Given the description of an element on the screen output the (x, y) to click on. 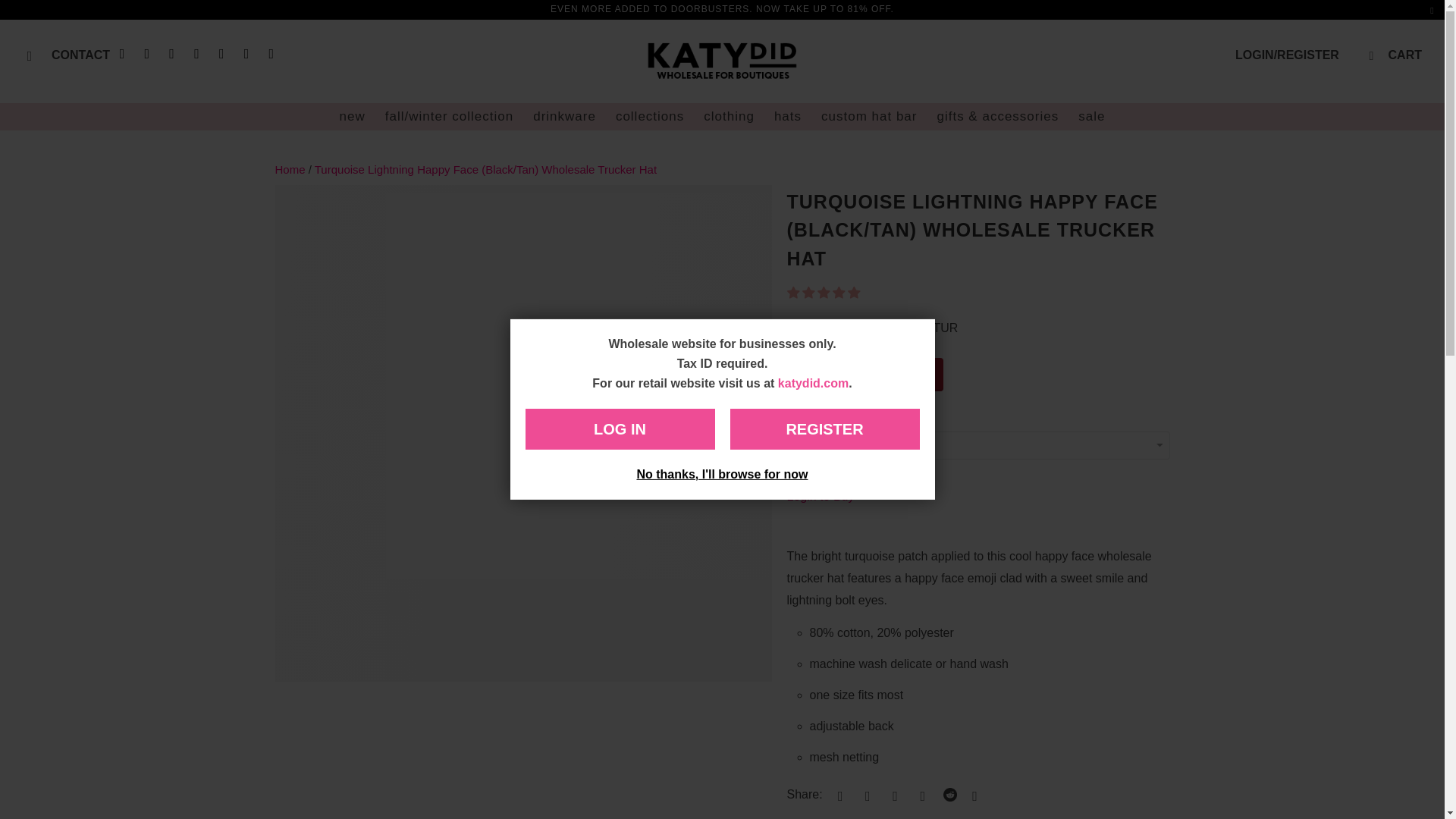
Home (291, 169)
Share this on Pinterest (892, 795)
Email this to a friend (971, 795)
Share this on Facebook (865, 795)
Share this on Twitter (837, 795)
